Given the description of an element on the screen output the (x, y) to click on. 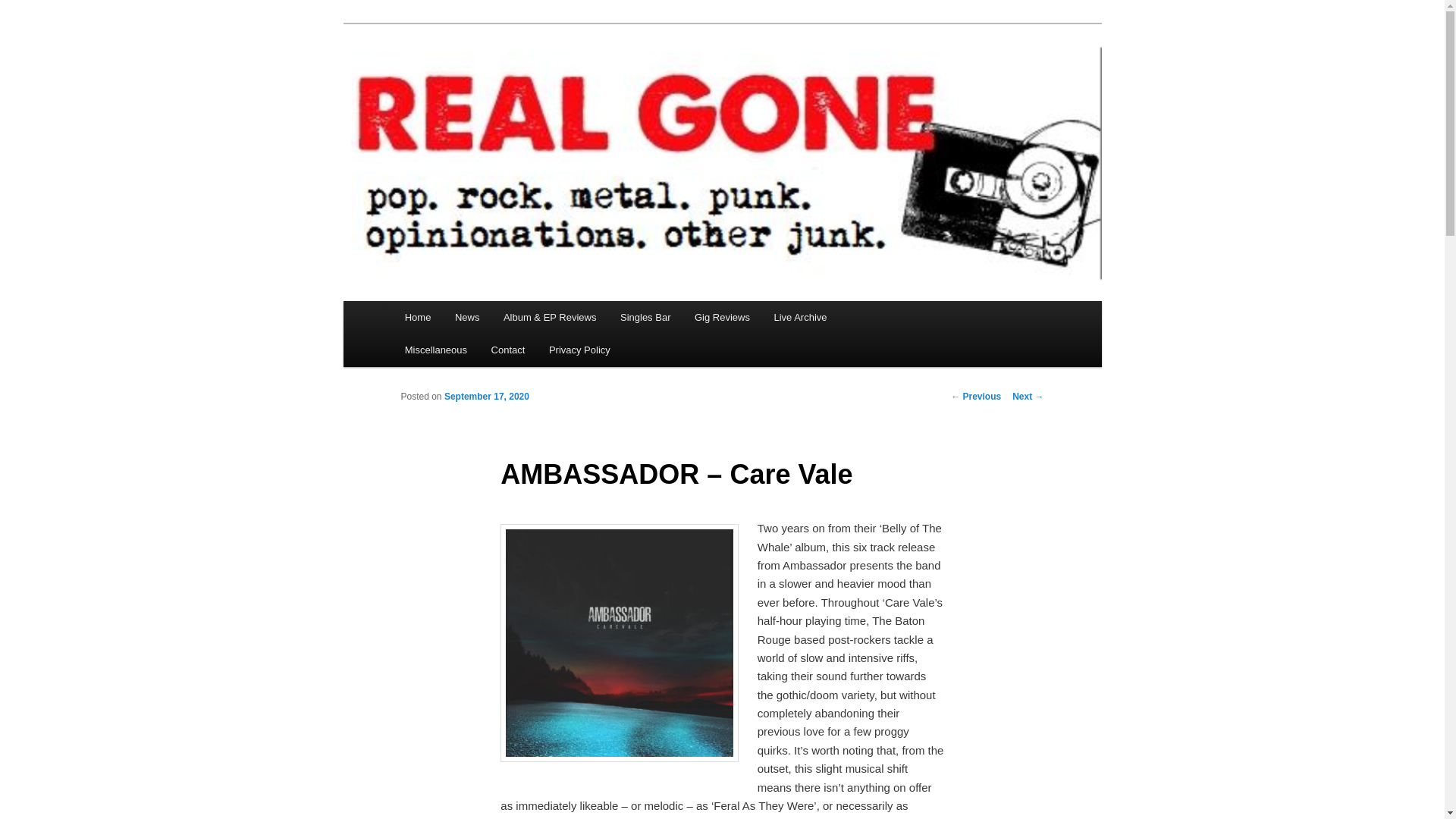
Contact (508, 349)
Singles Bar (645, 317)
Real Gone (456, 78)
News (467, 317)
Gig Reviews (721, 317)
September 17, 2020 (486, 396)
2:34 pm (486, 396)
Live Archive (800, 317)
Home (417, 317)
Privacy Policy (579, 349)
Miscellaneous (436, 349)
